Given the description of an element on the screen output the (x, y) to click on. 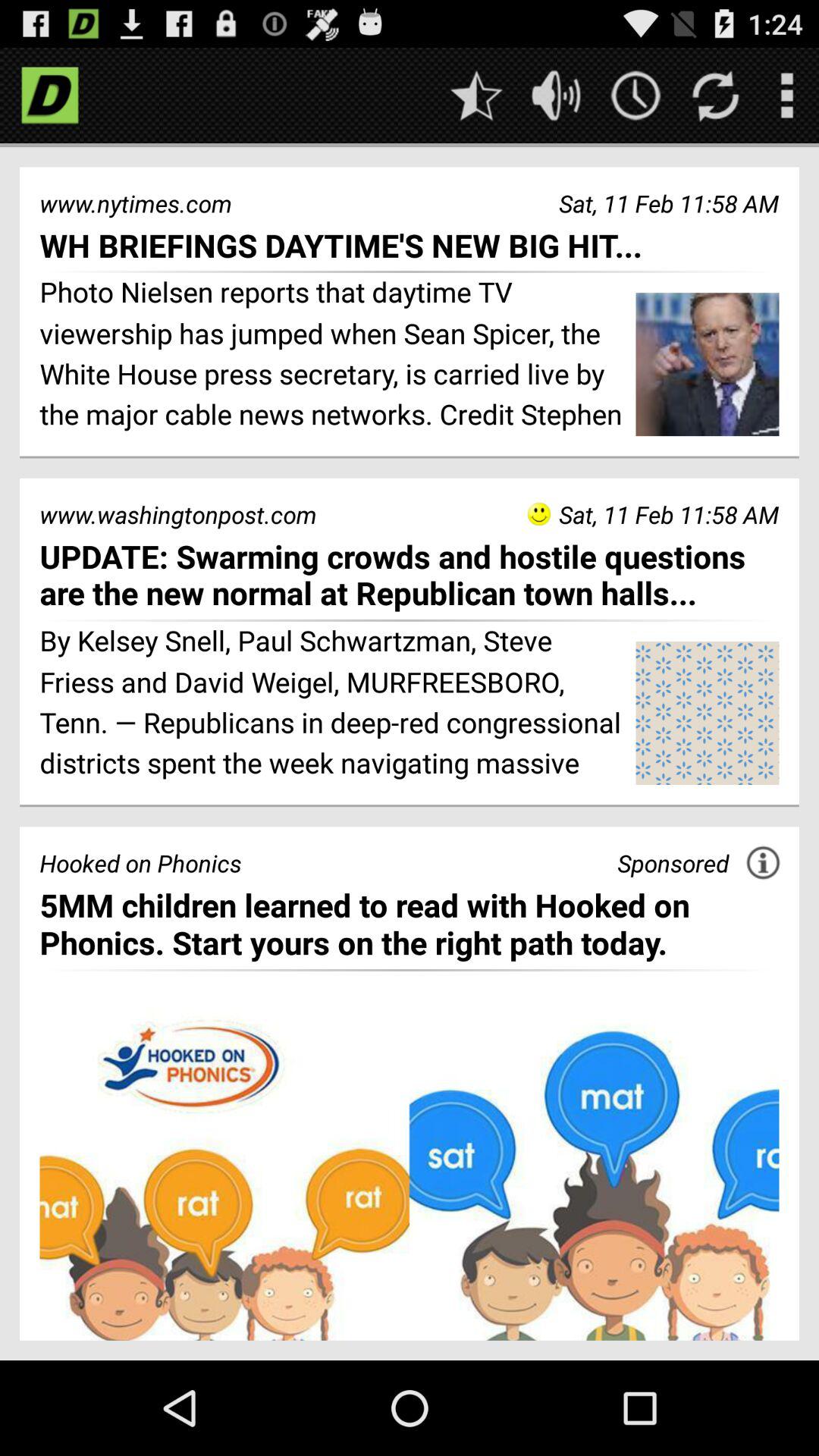
visit homepage (49, 95)
